Given the description of an element on the screen output the (x, y) to click on. 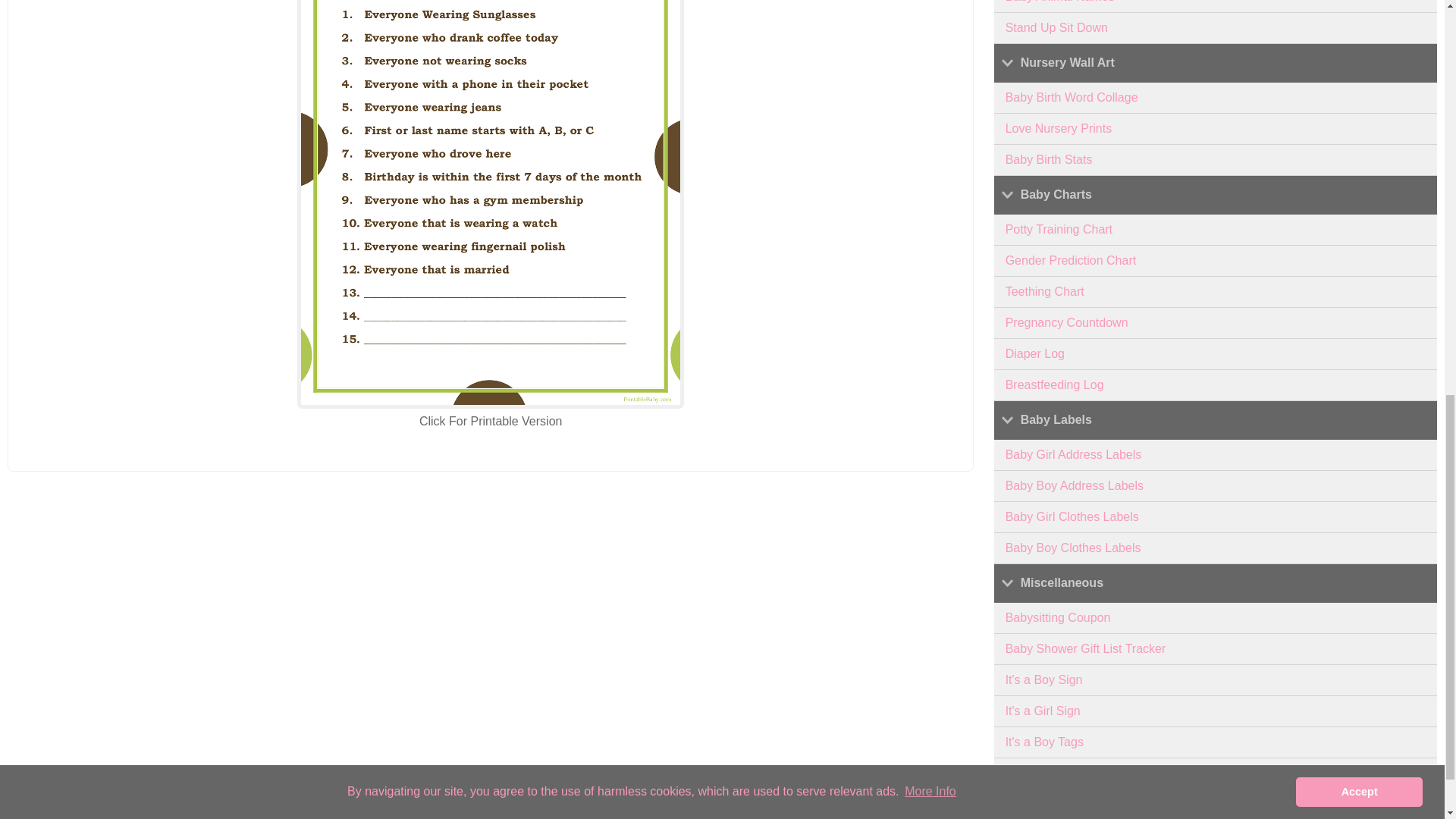
Diaper Log (1215, 354)
Baby Boy Address Labels (1215, 486)
Baby Birth Stats (1215, 160)
Breastfeeding Log (1215, 385)
Potty Training Chart (1215, 229)
Babysitting Coupon (1215, 617)
Love Nursery Prints (1215, 128)
Teething Chart (1215, 291)
Baby Birth Word Collage (1215, 97)
Baby Shower Gift List Tracker (1215, 649)
It's a Boy Tags (1215, 742)
Click For Printable Version (490, 420)
Baby Girl Address Labels (1215, 454)
It's a Girl Sign (1215, 711)
It's a Boy Sign (1215, 680)
